Given the description of an element on the screen output the (x, y) to click on. 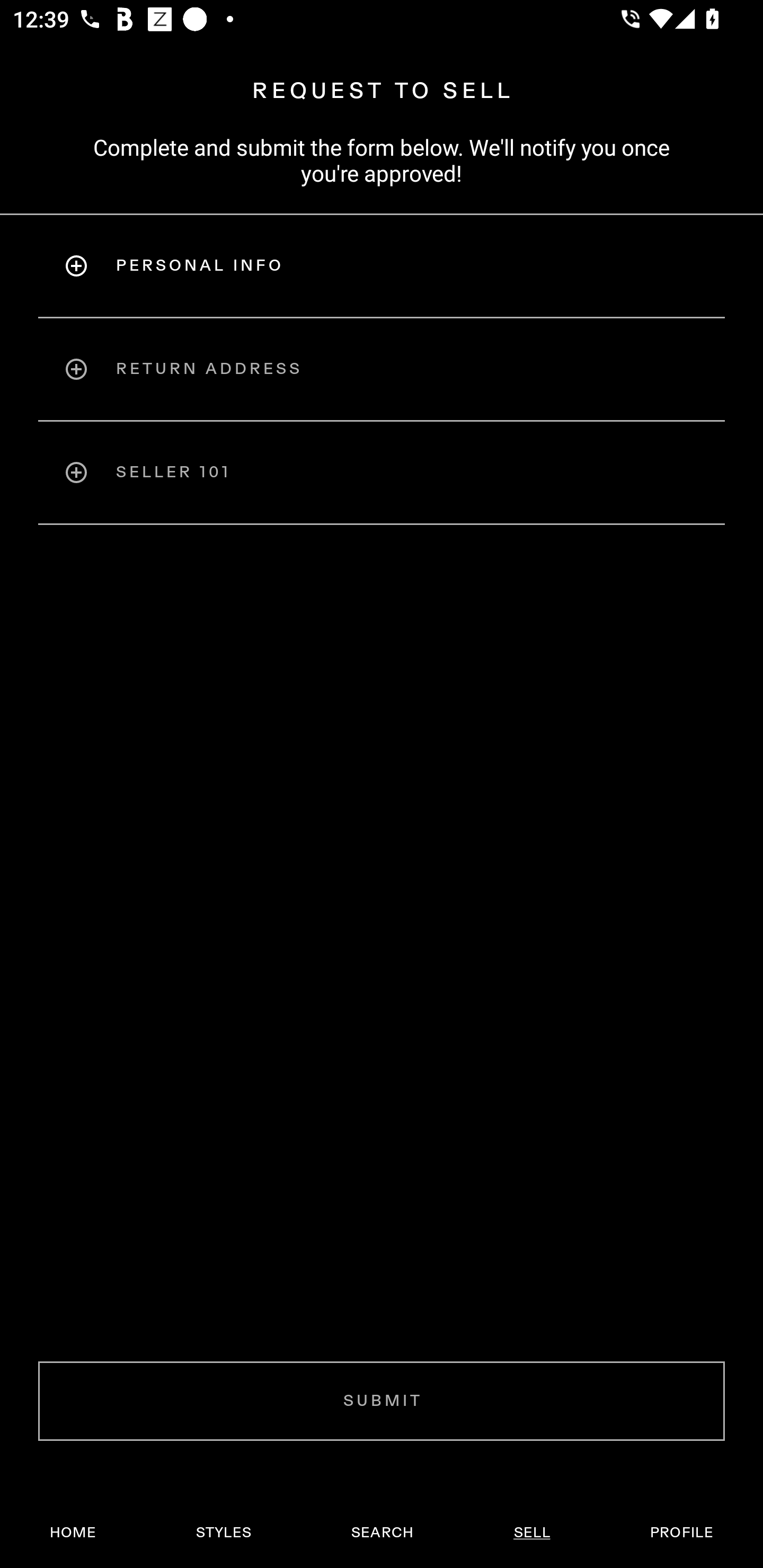
PERSONAL INFO (381, 265)
RETURN ADDRESS (381, 369)
SELLER 101 (381, 472)
SUBMIT (381, 1400)
HOME (72, 1532)
STYLES (222, 1532)
SEARCH (381, 1532)
SELL (531, 1532)
PROFILE (681, 1532)
